Given the description of an element on the screen output the (x, y) to click on. 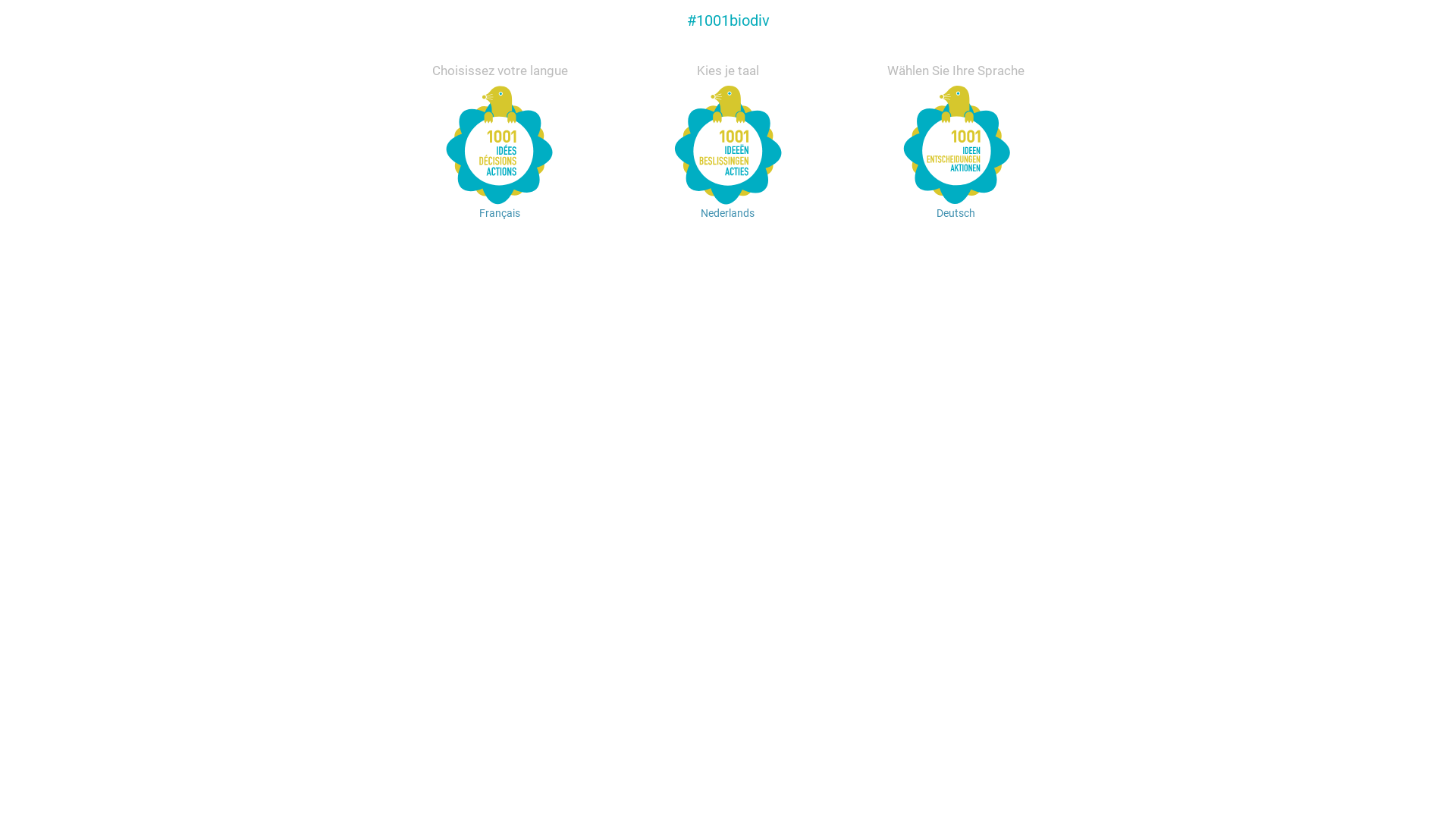
Deutsch Element type: text (956, 178)
Nederlands Element type: text (727, 178)
